Given the description of an element on the screen output the (x, y) to click on. 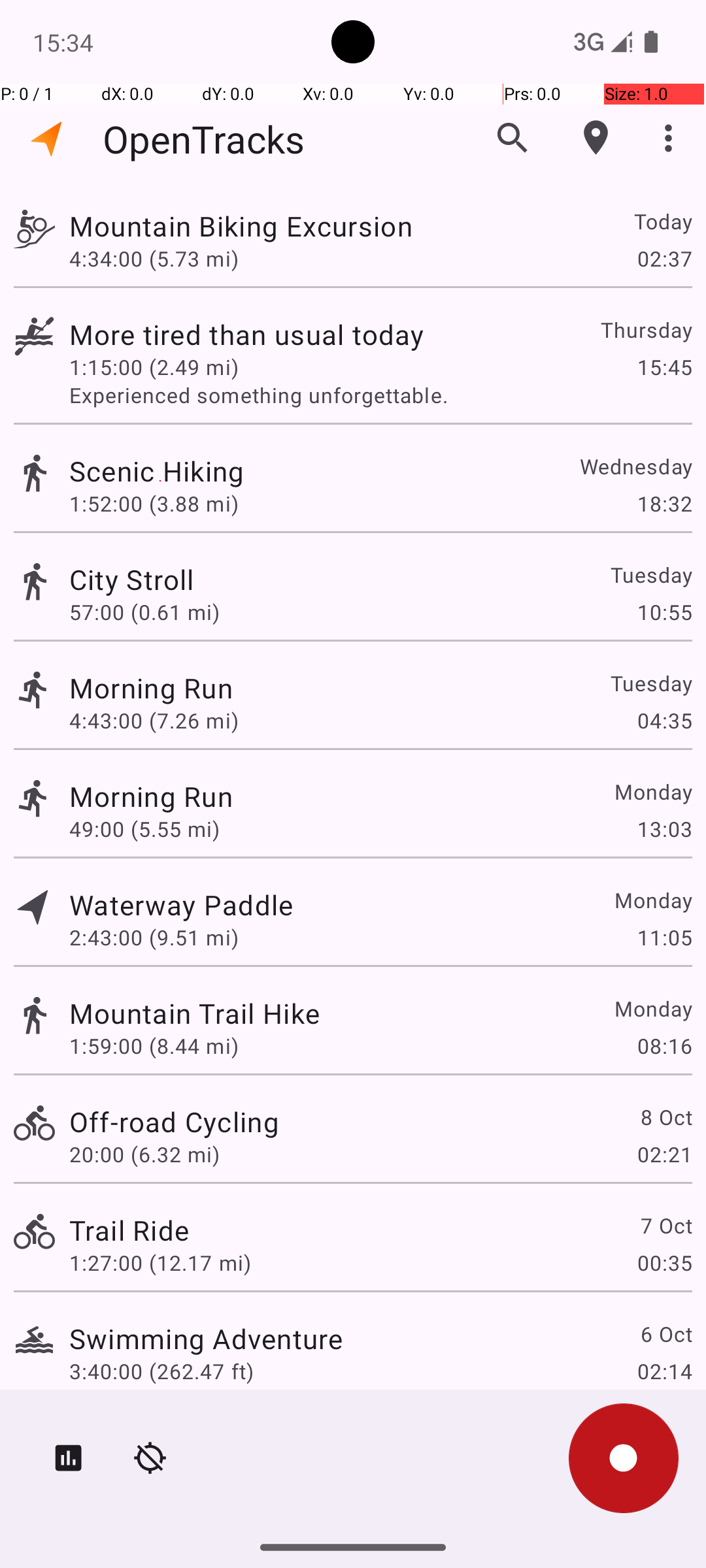
Mountain Biking Excursion Element type: android.widget.TextView (240, 225)
4:34:00 (5.73 mi) Element type: android.widget.TextView (153, 258)
02:37 Element type: android.widget.TextView (664, 258)
More tired than usual today Element type: android.widget.TextView (246, 333)
1:15:00 (2.49 mi) Element type: android.widget.TextView (153, 366)
15:45 Element type: android.widget.TextView (664, 366)
Experienced something unforgettable. Element type: android.widget.TextView (380, 394)
Scenic Hiking Element type: android.widget.TextView (156, 470)
1:52:00 (3.88 mi) Element type: android.widget.TextView (153, 503)
18:32 Element type: android.widget.TextView (664, 503)
City Stroll Element type: android.widget.TextView (131, 578)
57:00 (0.61 mi) Element type: android.widget.TextView (144, 611)
10:55 Element type: android.widget.TextView (664, 611)
Morning Run Element type: android.widget.TextView (150, 687)
4:43:00 (7.26 mi) Element type: android.widget.TextView (153, 720)
04:35 Element type: android.widget.TextView (664, 720)
49:00 (5.55 mi) Element type: android.widget.TextView (144, 828)
13:03 Element type: android.widget.TextView (664, 828)
Waterway Paddle Element type: android.widget.TextView (180, 904)
2:43:00 (9.51 mi) Element type: android.widget.TextView (153, 937)
11:05 Element type: android.widget.TextView (664, 937)
Mountain Trail Hike Element type: android.widget.TextView (194, 1012)
1:59:00 (8.44 mi) Element type: android.widget.TextView (153, 1045)
08:16 Element type: android.widget.TextView (664, 1045)
Off-road Cycling Element type: android.widget.TextView (173, 1121)
20:00 (6.32 mi) Element type: android.widget.TextView (144, 1154)
02:21 Element type: android.widget.TextView (664, 1154)
Trail Ride Element type: android.widget.TextView (128, 1229)
1:27:00 (12.17 mi) Element type: android.widget.TextView (159, 1262)
00:35 Element type: android.widget.TextView (664, 1262)
Swimming Adventure Element type: android.widget.TextView (205, 1337)
3:40:00 (262.47 ft) Element type: android.widget.TextView (161, 1370)
02:14 Element type: android.widget.TextView (664, 1370)
